Given the description of an element on the screen output the (x, y) to click on. 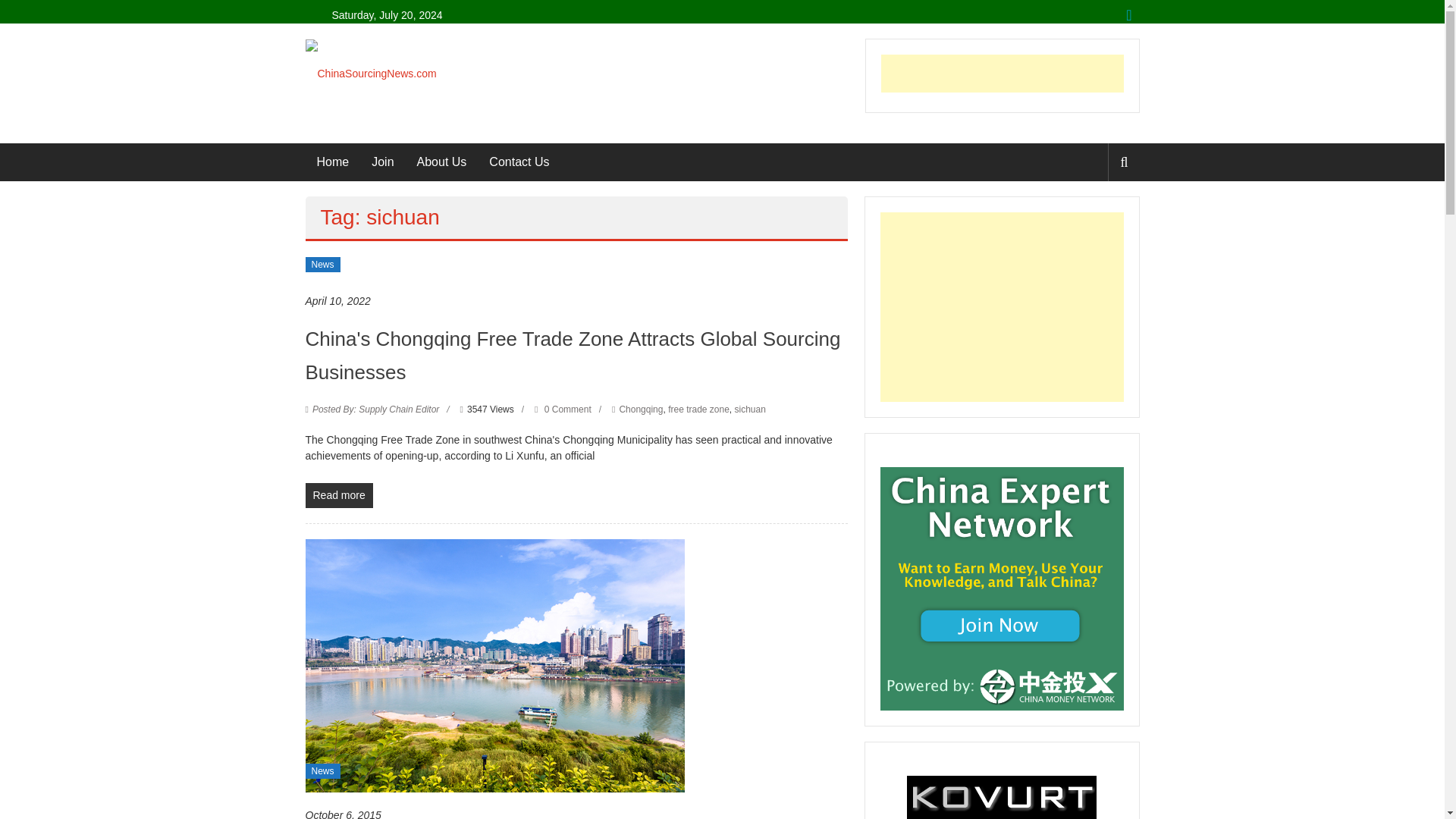
Posted By: Supply Chain Editor (376, 409)
2:23 am (336, 301)
0 Comment (562, 409)
About Us (441, 161)
Contact Us (518, 161)
Letv Targets Chongqing For New Industrial Base (494, 664)
ChinaSourcingNews.com (369, 72)
October 6, 2015 (342, 813)
Contact Us (518, 161)
Supply Chain Editor (376, 409)
About Us (441, 161)
April 10, 2022 (336, 301)
Advertisement (1002, 73)
